Given the description of an element on the screen output the (x, y) to click on. 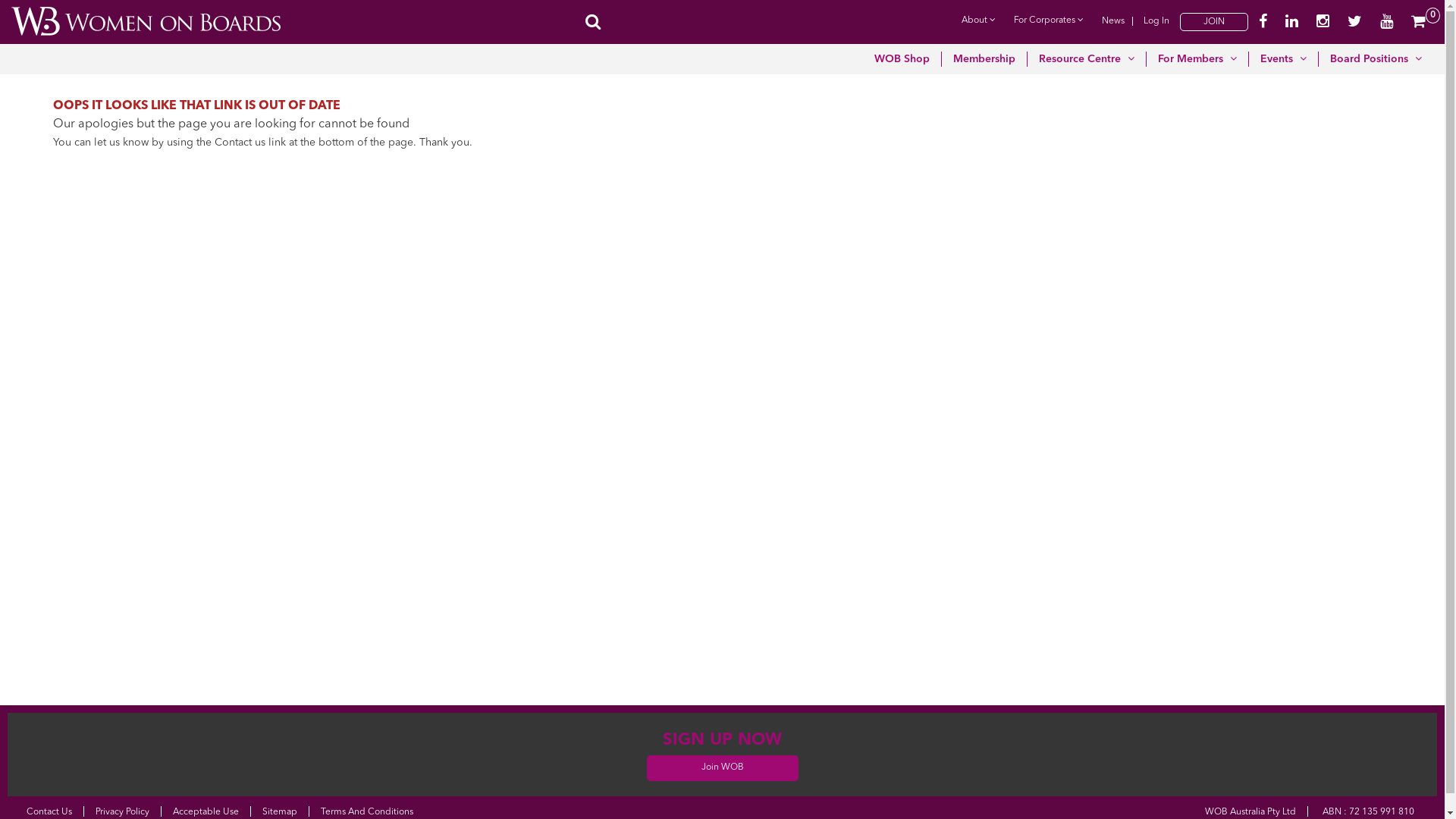
Terms And Conditions Element type: text (366, 811)
0 Element type: text (1418, 21)
Membership Element type: text (984, 58)
For Corporates Element type: text (1048, 20)
WOB Shop Element type: text (901, 58)
Resource Centre Element type: text (1086, 58)
For Members Element type: text (1197, 58)
Contact Us Element type: text (49, 811)
Logo Element type: hover (145, 20)
About Element type: text (978, 20)
Join WOB Element type: text (721, 767)
Log In Element type: text (1155, 20)
Sitemap Element type: text (279, 811)
JOIN Element type: text (1213, 21)
News Element type: text (1113, 20)
Events Element type: text (1283, 58)
Acceptable Use Element type: text (205, 811)
Board Positions Element type: text (1375, 58)
Privacy Policy Element type: text (122, 811)
